Given the description of an element on the screen output the (x, y) to click on. 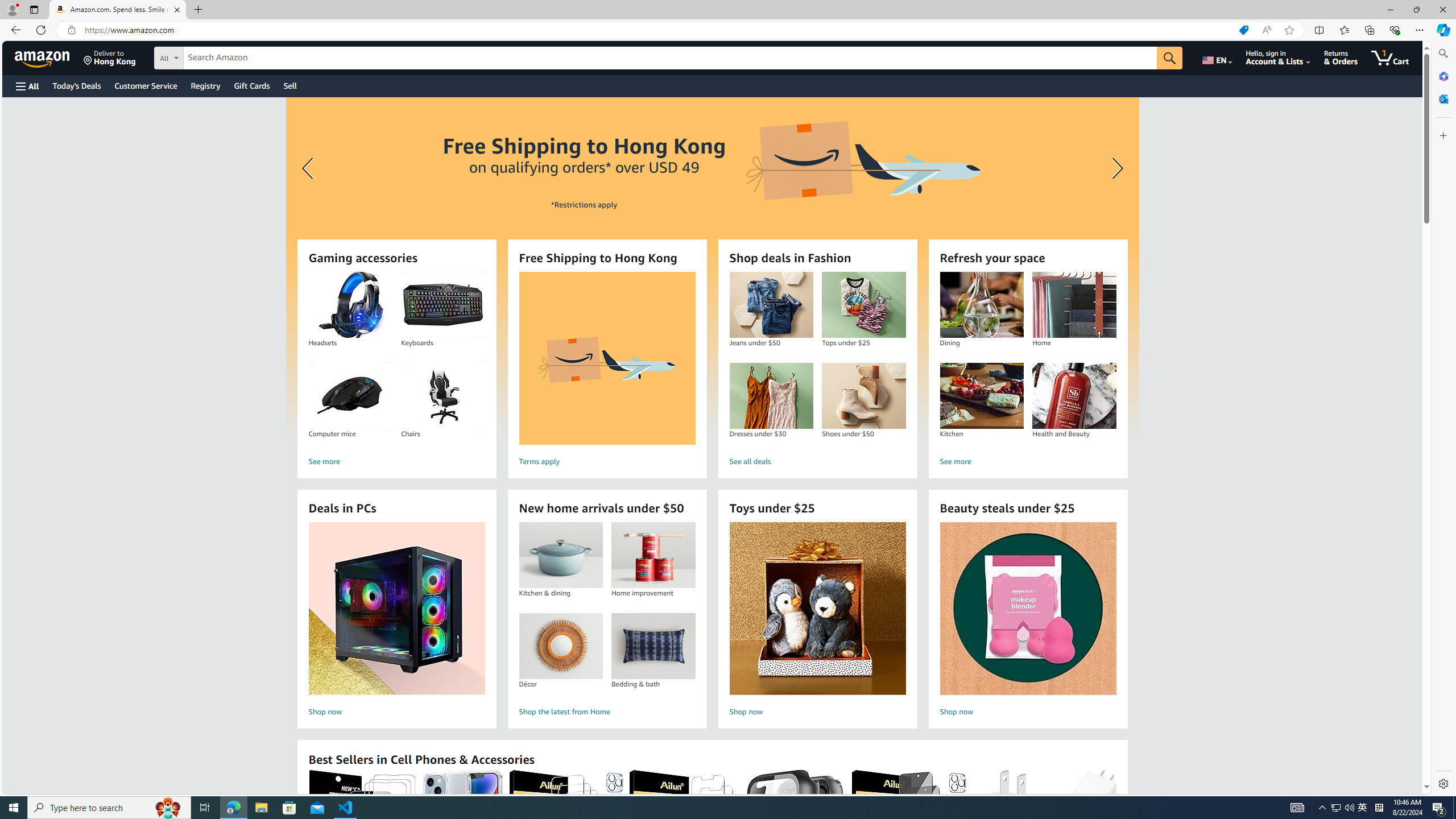
Registry (205, 85)
Computer mice (350, 395)
Home improvement (652, 555)
Today's Deals (76, 85)
Free Shipping to Hong Kong Learn more (711, 267)
